Given the description of an element on the screen output the (x, y) to click on. 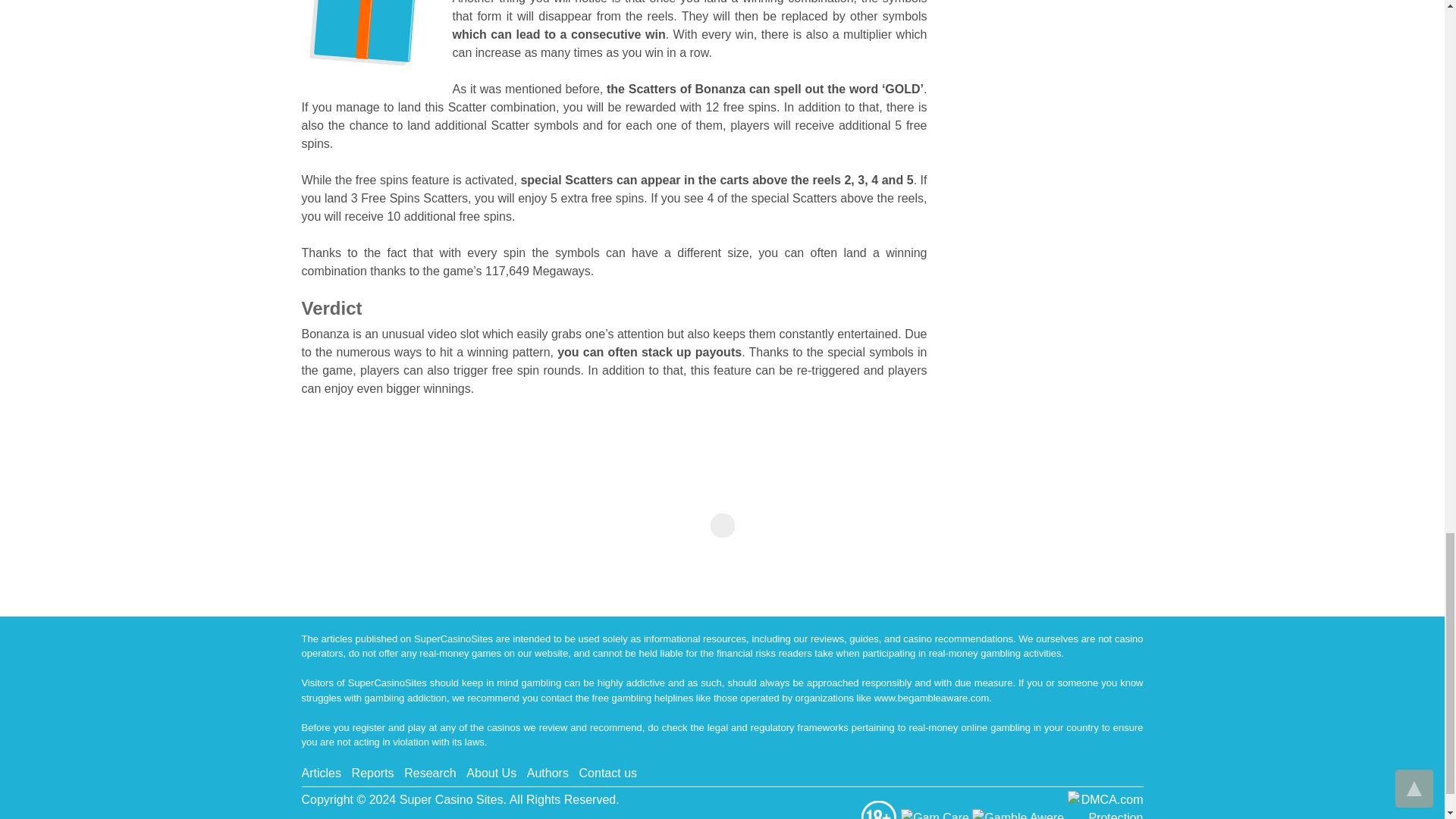
Articles (320, 772)
Research (429, 772)
Gamble Awere (1019, 814)
Gam Care (936, 814)
DMCA.com Protection Status (1104, 814)
Reports (373, 772)
www.begambleaware.com (932, 697)
